Given the description of an element on the screen output the (x, y) to click on. 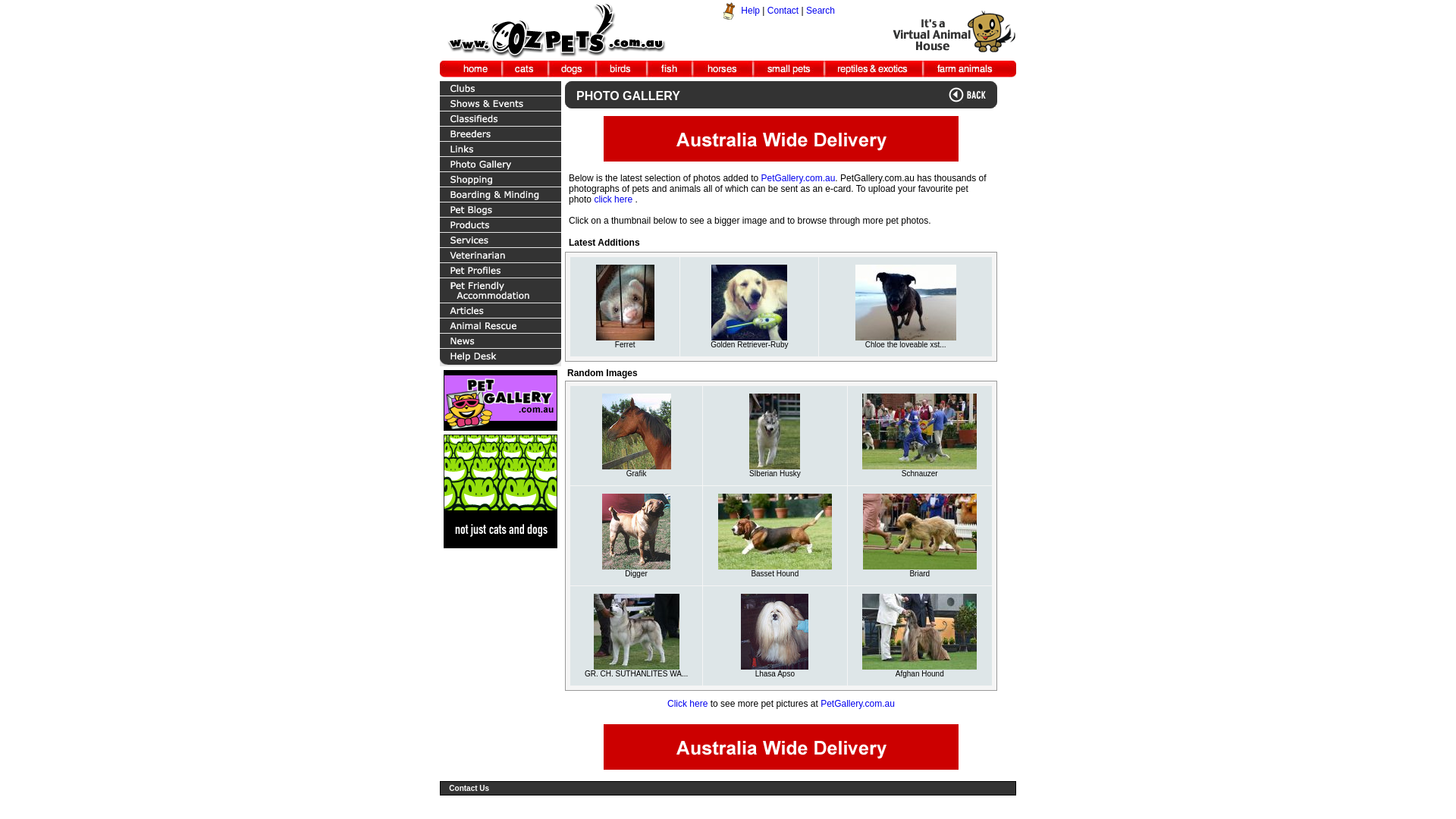
click here Element type: text (612, 199)
Help Element type: text (749, 10)
PetGallery.com.au Element type: text (857, 703)
Contact Element type: text (782, 10)
Search Element type: text (820, 10)
Views: 1414
Rating: 5/5
Date: 06.02.04
236x260 (24.4 KB) Element type: hover (636, 431)
Views: 692
Rating: 5/5
Date: 09.11.04
542x360 (59.9 KB) Element type: hover (774, 531)
Views: 728
Rating: 5/5
Date: 06.02.04
231x260 (21.5 KB) Element type: hover (774, 631)
Contact Us Element type: text (468, 788)
PetGallery.com.au Element type: text (798, 177)
Click here Element type: text (687, 703)
